Given the description of an element on the screen output the (x, y) to click on. 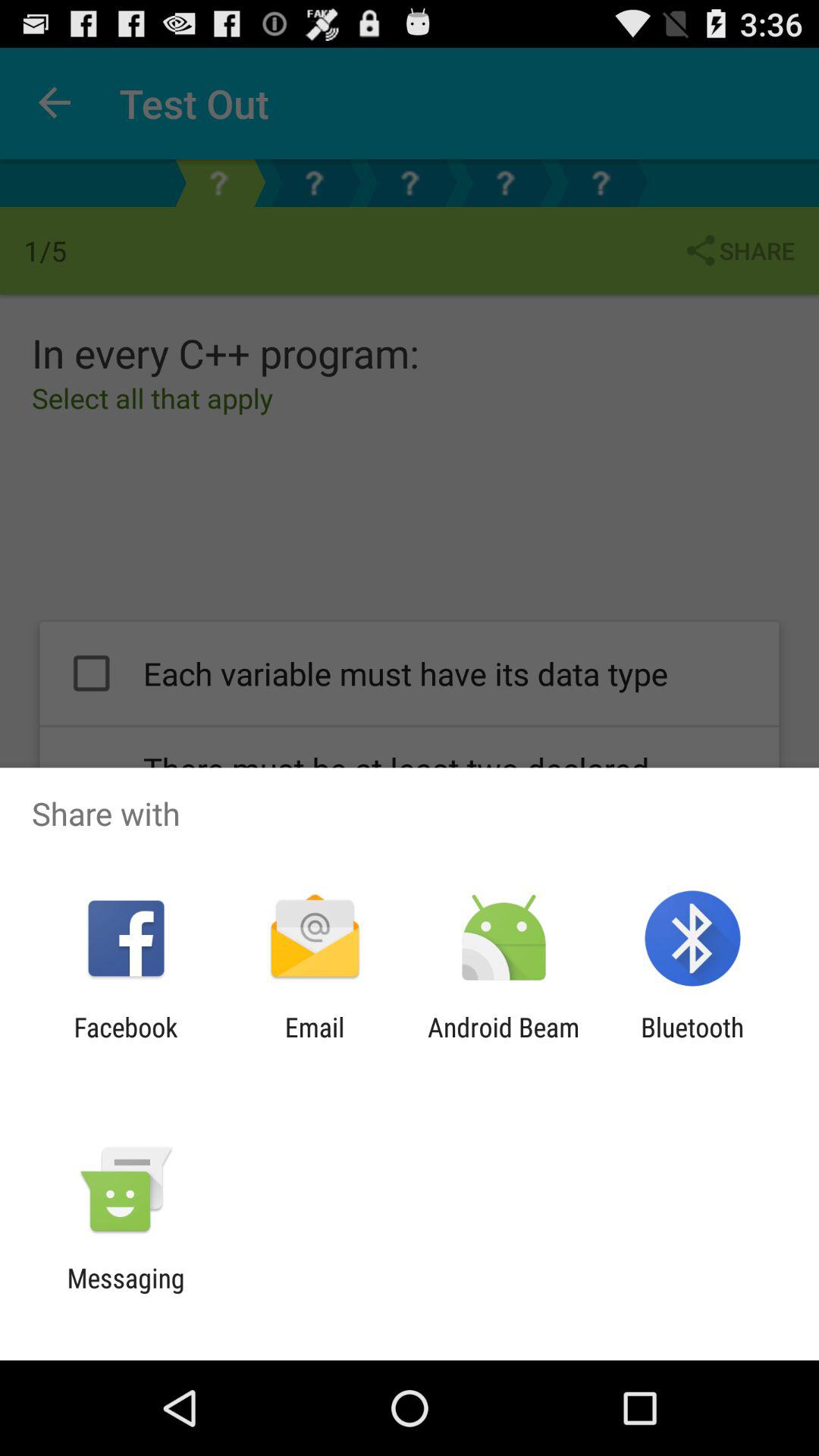
turn on the icon to the right of the android beam icon (691, 1042)
